Given the description of an element on the screen output the (x, y) to click on. 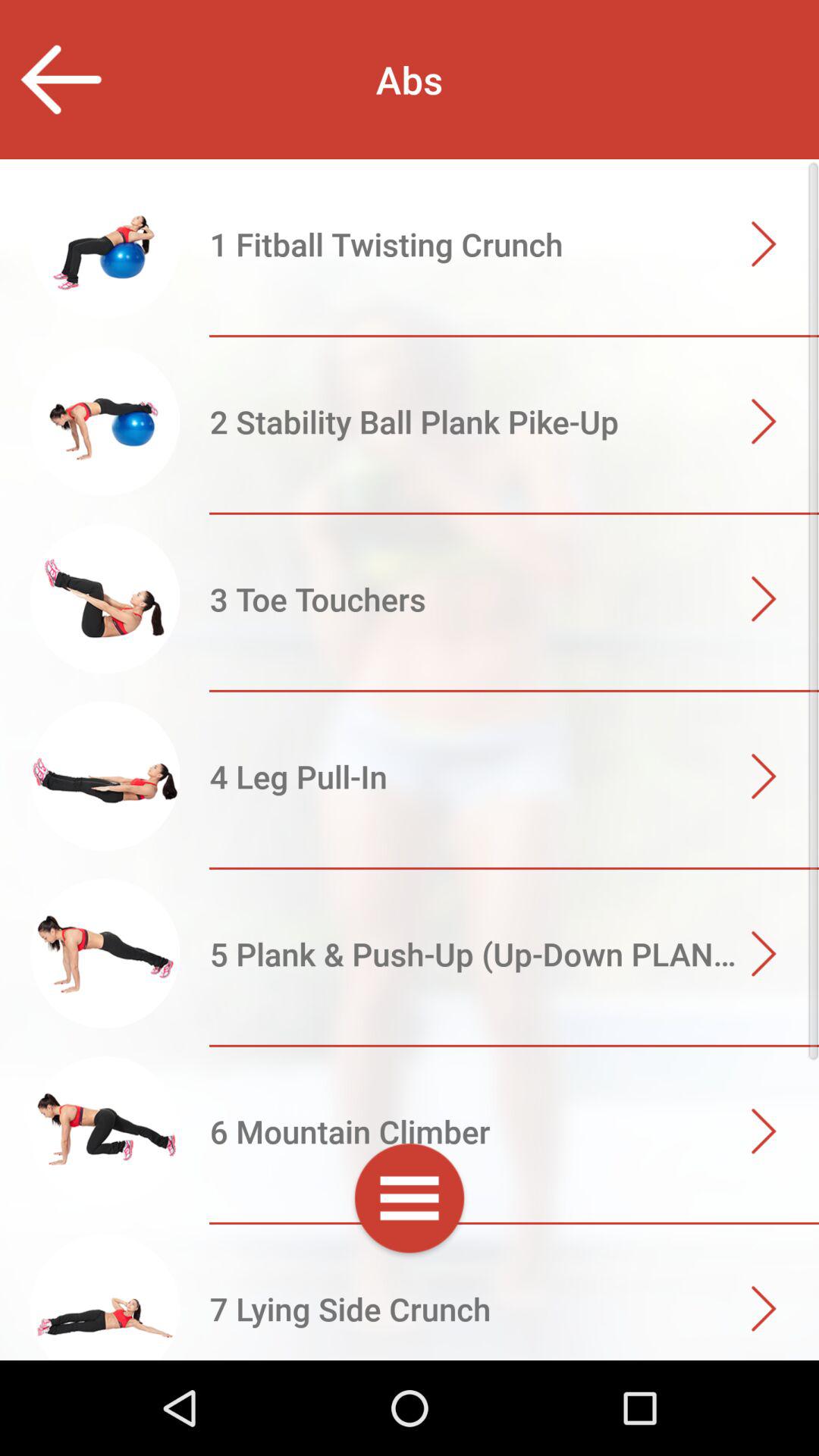
expand menu (409, 1200)
